Given the description of an element on the screen output the (x, y) to click on. 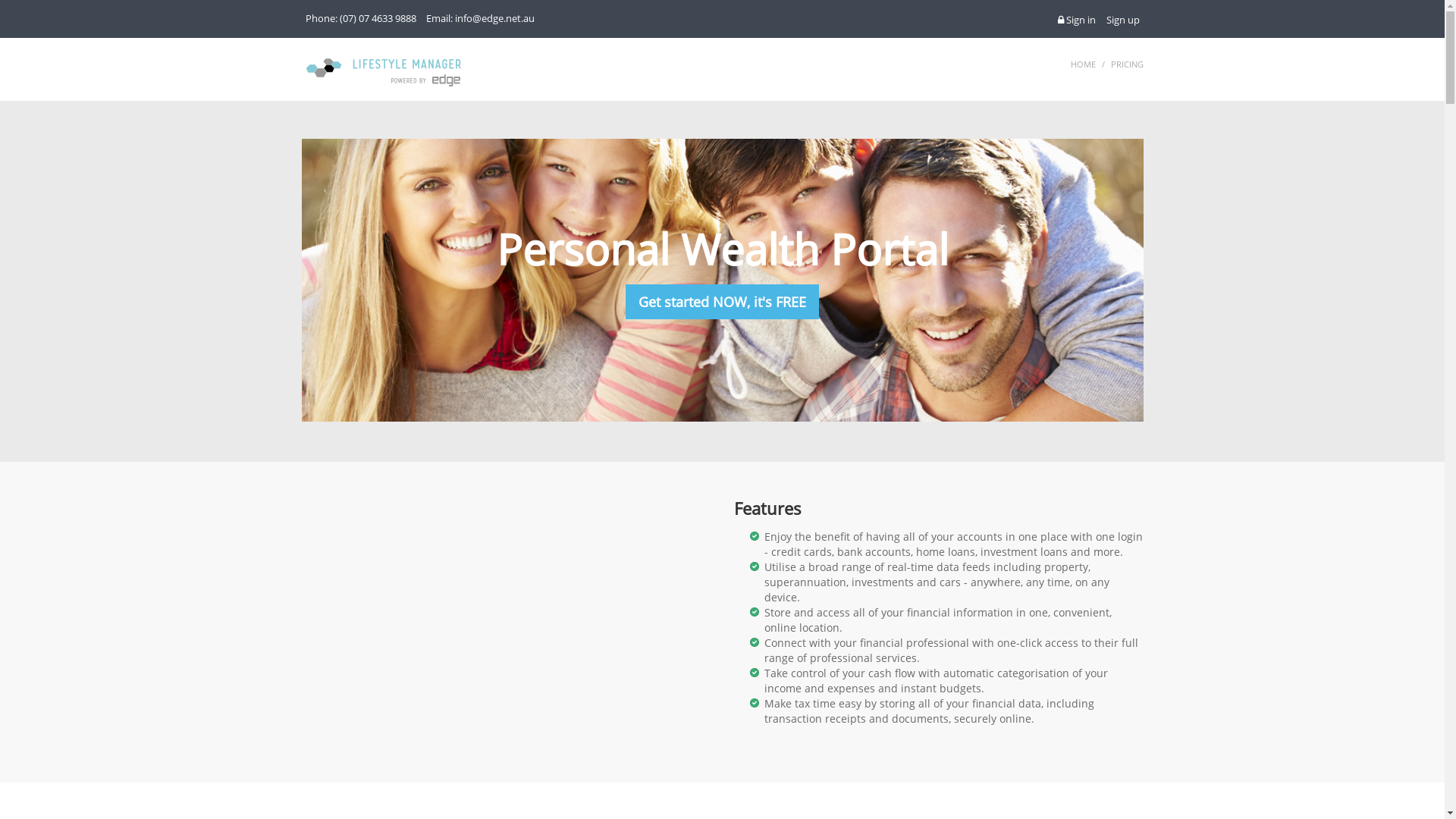
Get started NOW, it's FREE Element type: text (722, 301)
Sign in Element type: text (1076, 19)
Sign up Element type: text (1122, 19)
PRICING Element type: text (1126, 63)
HOME Element type: text (1082, 63)
Features Element type: text (767, 508)
